Given the description of an element on the screen output the (x, y) to click on. 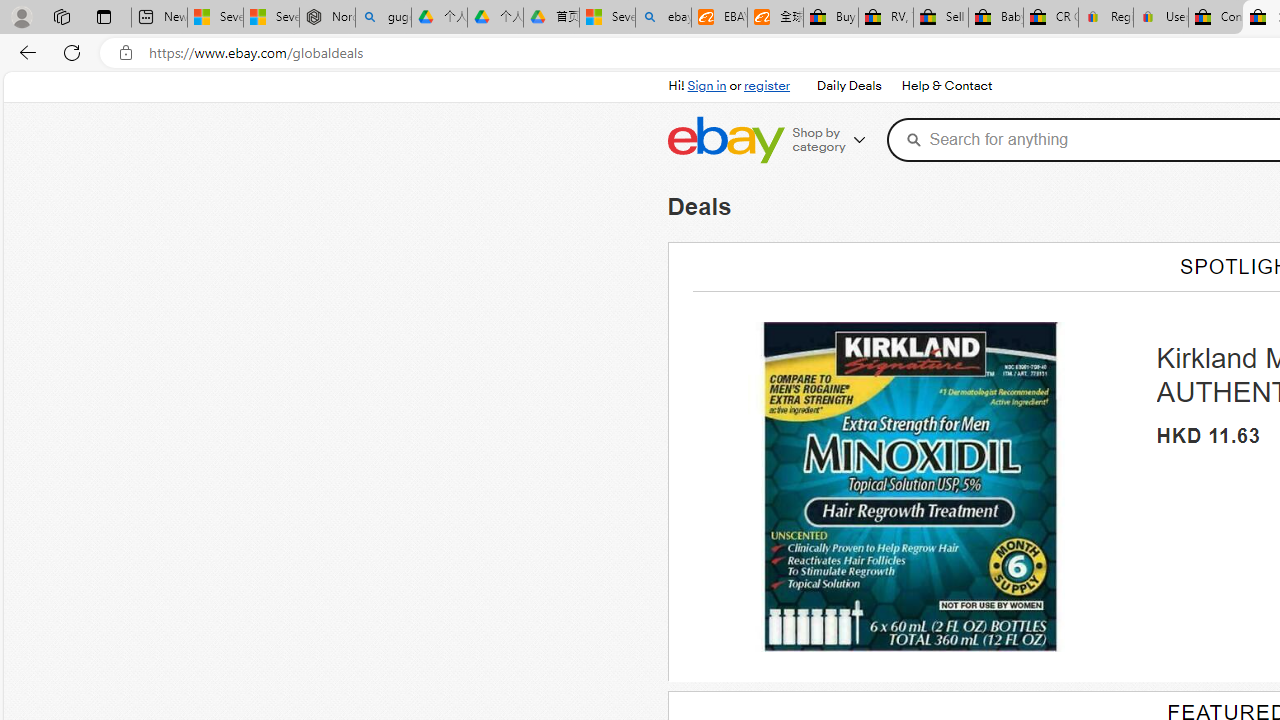
Sell worldwide with eBay (940, 17)
Shop by category (836, 140)
eBay Home (725, 139)
Personal Profile (21, 16)
RV, Trailer & Camper Steps & Ladders for sale | eBay (885, 17)
Baby Keepsakes & Announcements for sale | eBay (995, 17)
register (766, 85)
guge yunpan - Search (382, 17)
Help & Contact (947, 86)
Workspaces (61, 16)
eBay Home (725, 139)
ebay - Search (663, 17)
Daily Deals (848, 85)
